Given the description of an element on the screen output the (x, y) to click on. 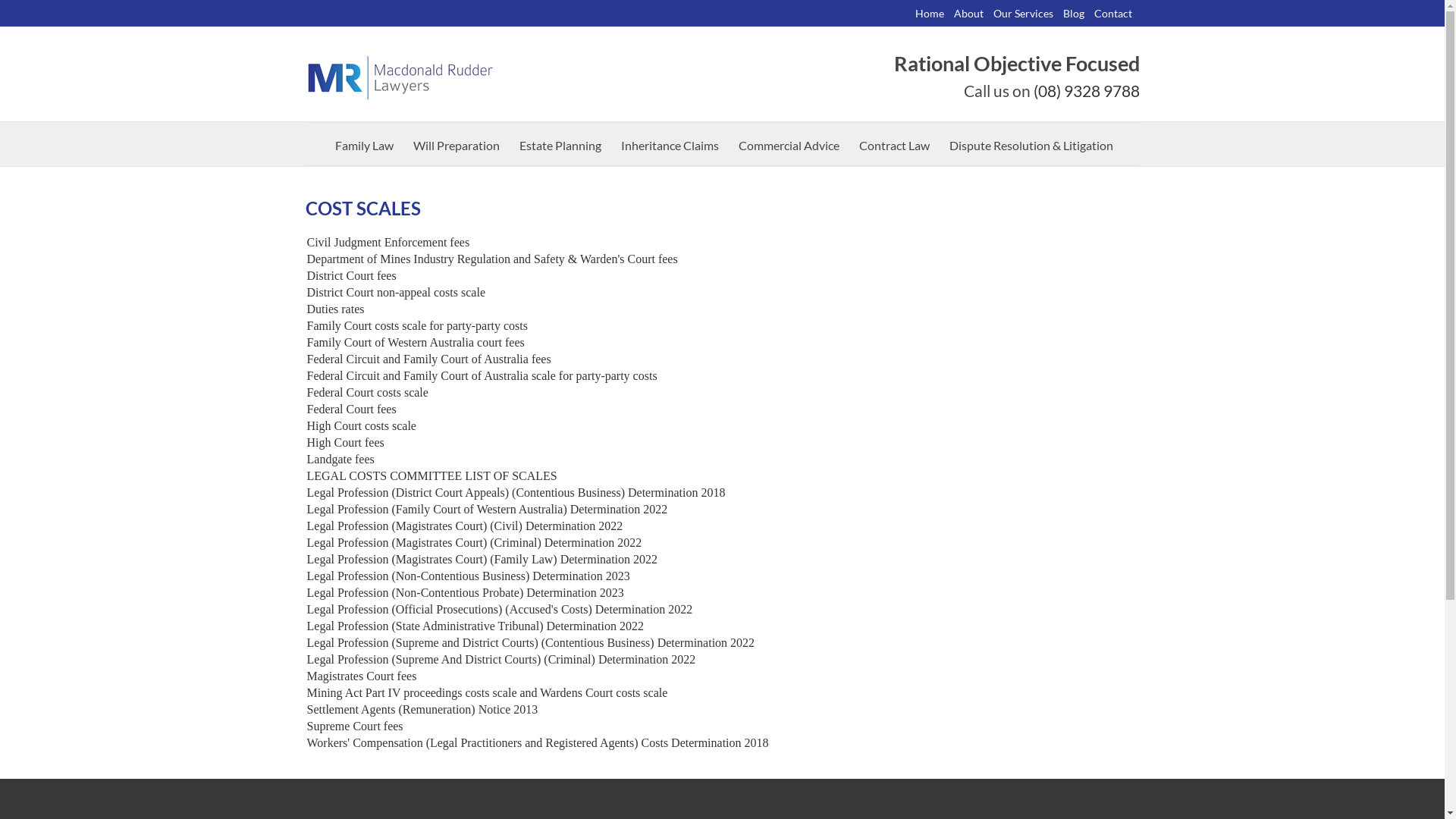
Supreme Court fees Element type: text (354, 725)
District Court fees Element type: text (350, 275)
Magistrates Court fees Element type: text (361, 675)
Home Element type: text (932, 12)
High Court fees Element type: text (344, 442)
Family Court of Western Australia court fees Element type: text (415, 341)
Family Court costs scale for party-party costs Element type: text (416, 325)
Commercial Advice Element type: text (788, 143)
LEGAL COSTS COMMITTEE LIST OF SCALES Element type: text (431, 475)
Family Law Element type: text (363, 143)
Our Services Element type: text (1025, 12)
Inheritance Claims Element type: text (669, 143)
Federal Court fees Element type: text (350, 408)
Estate Planning Element type: text (560, 143)
High Court costs scale Element type: text (360, 425)
Federal Circuit and Family Court of Australia fees Element type: text (428, 358)
Dispute Resolution & Litigation Element type: text (1030, 143)
Landgate fees Element type: text (339, 458)
Federal Court costs scale Element type: text (366, 391)
About Element type: text (970, 12)
Blog Element type: text (1076, 12)
Duties rates Element type: text (335, 308)
(08) 9328 9788 Element type: text (1085, 90)
Contact Element type: text (1116, 12)
Settlement Agents (Remuneration) Notice 2013 Element type: text (421, 708)
District Court non-appeal costs scale Element type: text (395, 291)
Civil Judgment Enforcement fees Element type: text (387, 241)
Will Preparation Element type: text (456, 143)
Contract Law Element type: text (894, 143)
